Given the description of an element on the screen output the (x, y) to click on. 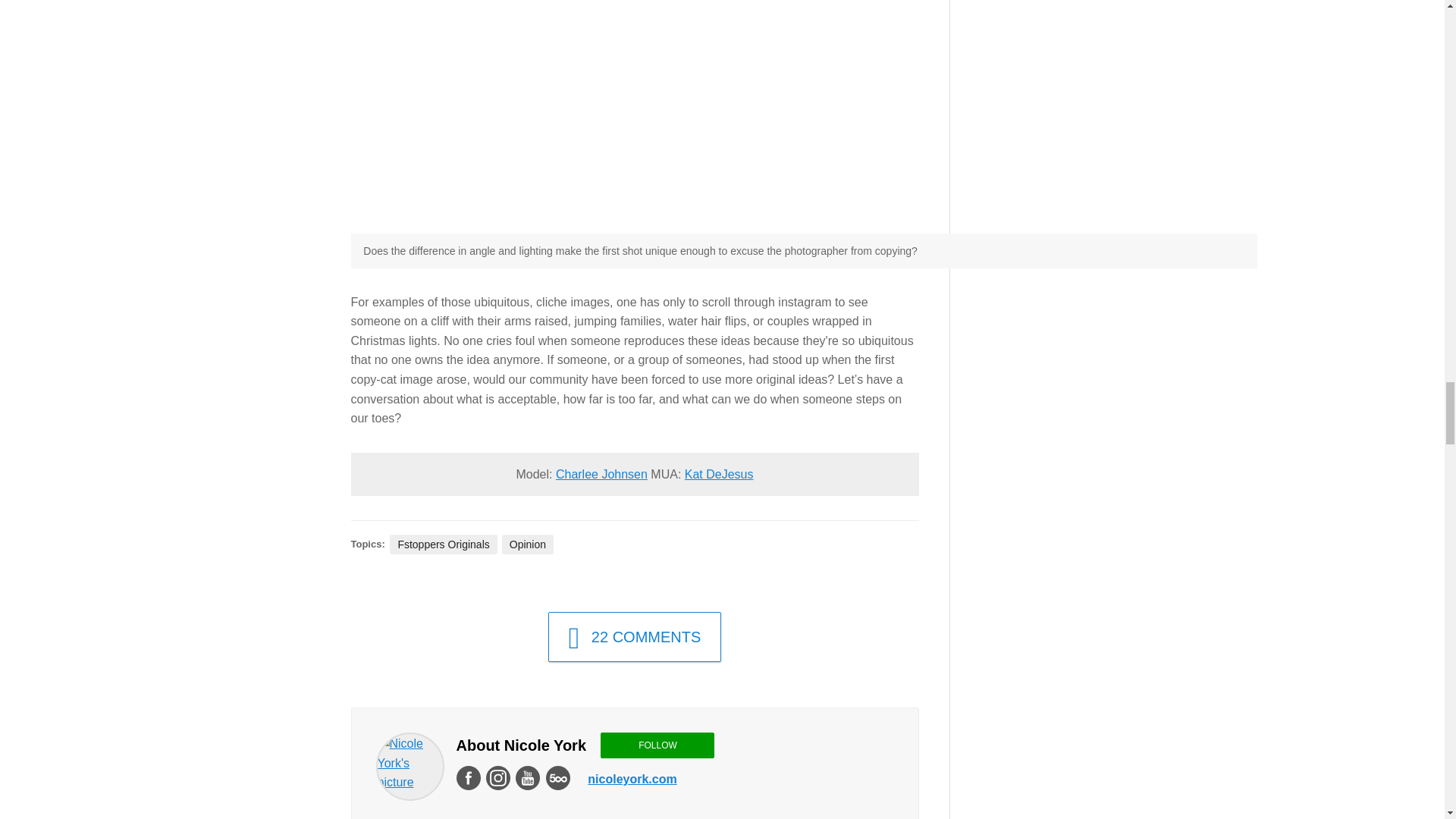
Charlee Johnsen (601, 473)
Fstoppers Originals (443, 544)
FOLLOW (656, 745)
Kat DeJesus (719, 473)
22 COMMENTS (635, 636)
Opinion (527, 544)
